Given the description of an element on the screen output the (x, y) to click on. 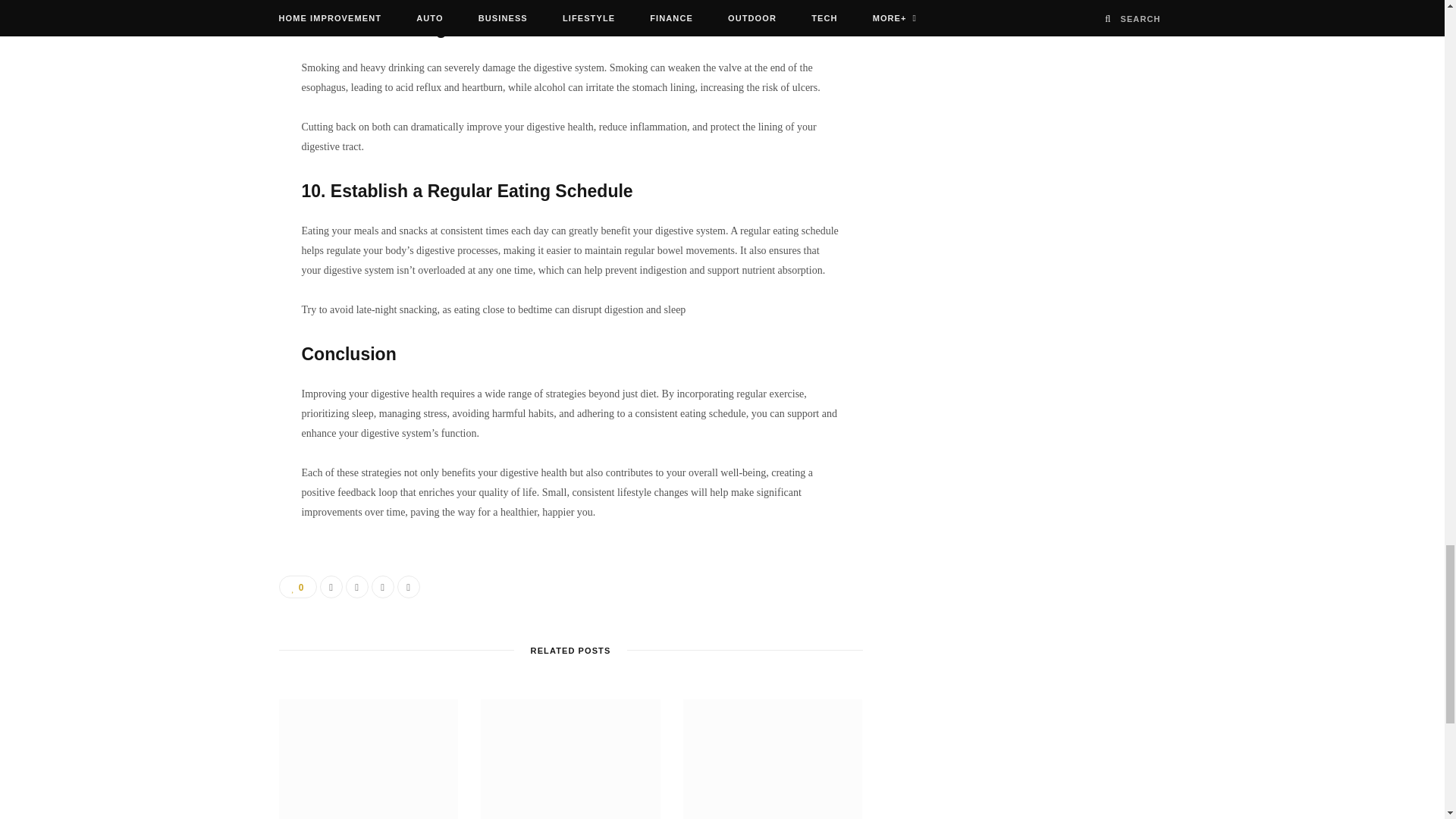
Share on Facebook (331, 586)
Email (408, 586)
0 (298, 586)
Pinterest (382, 586)
Share on Twitter (357, 586)
